Given the description of an element on the screen output the (x, y) to click on. 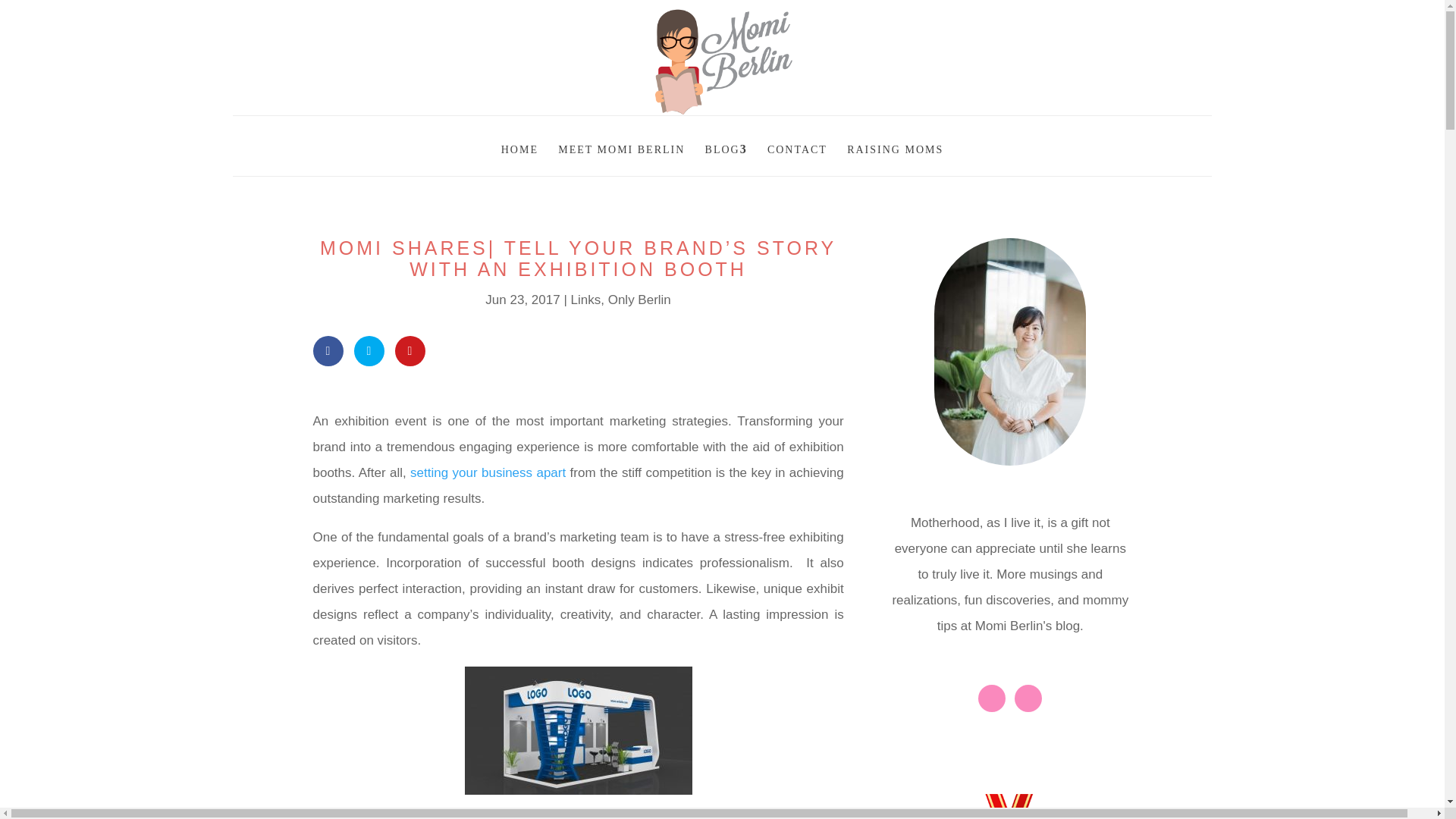
Tell Your Brand's Story With an Exhibition Booth (578, 730)
Links (585, 299)
MEET MOMI BERLIN (620, 146)
RAISING MOMS (895, 146)
setting your business apart (488, 472)
Only Berlin (639, 299)
CONTACT (797, 146)
